Given the description of an element on the screen output the (x, y) to click on. 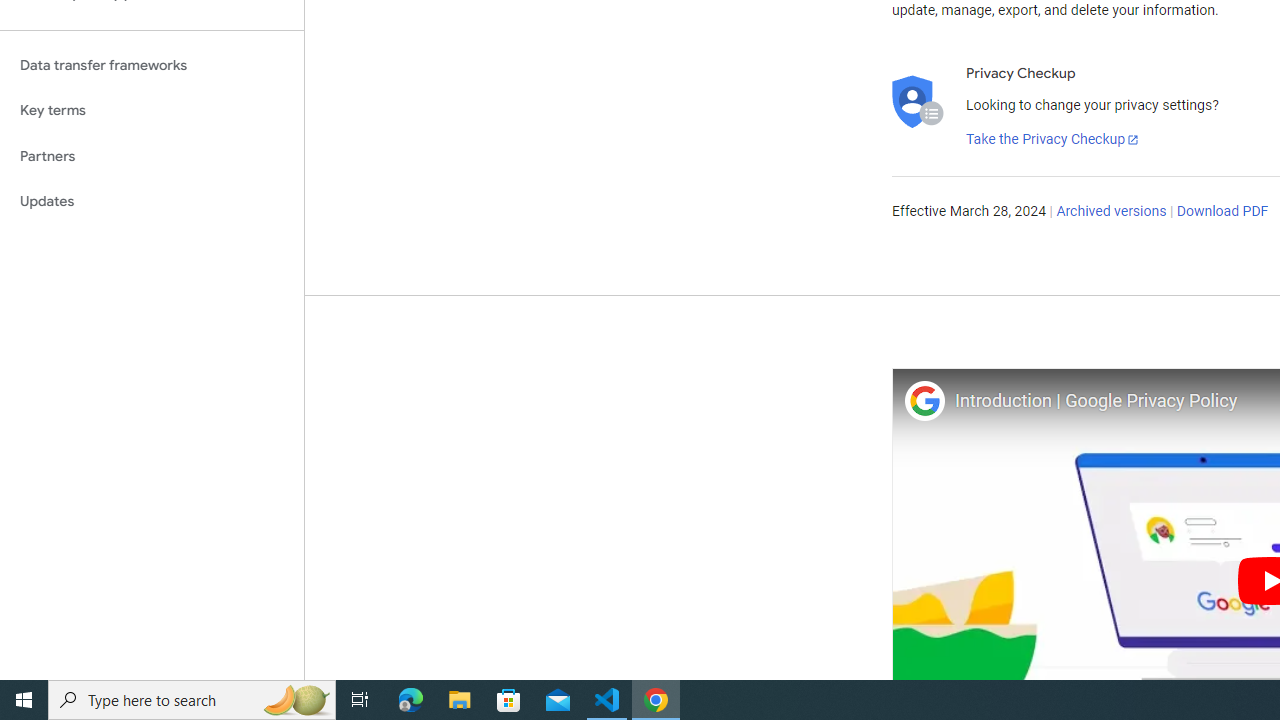
Take the Privacy Checkup (1053, 140)
Photo image of Google (924, 400)
